Given the description of an element on the screen output the (x, y) to click on. 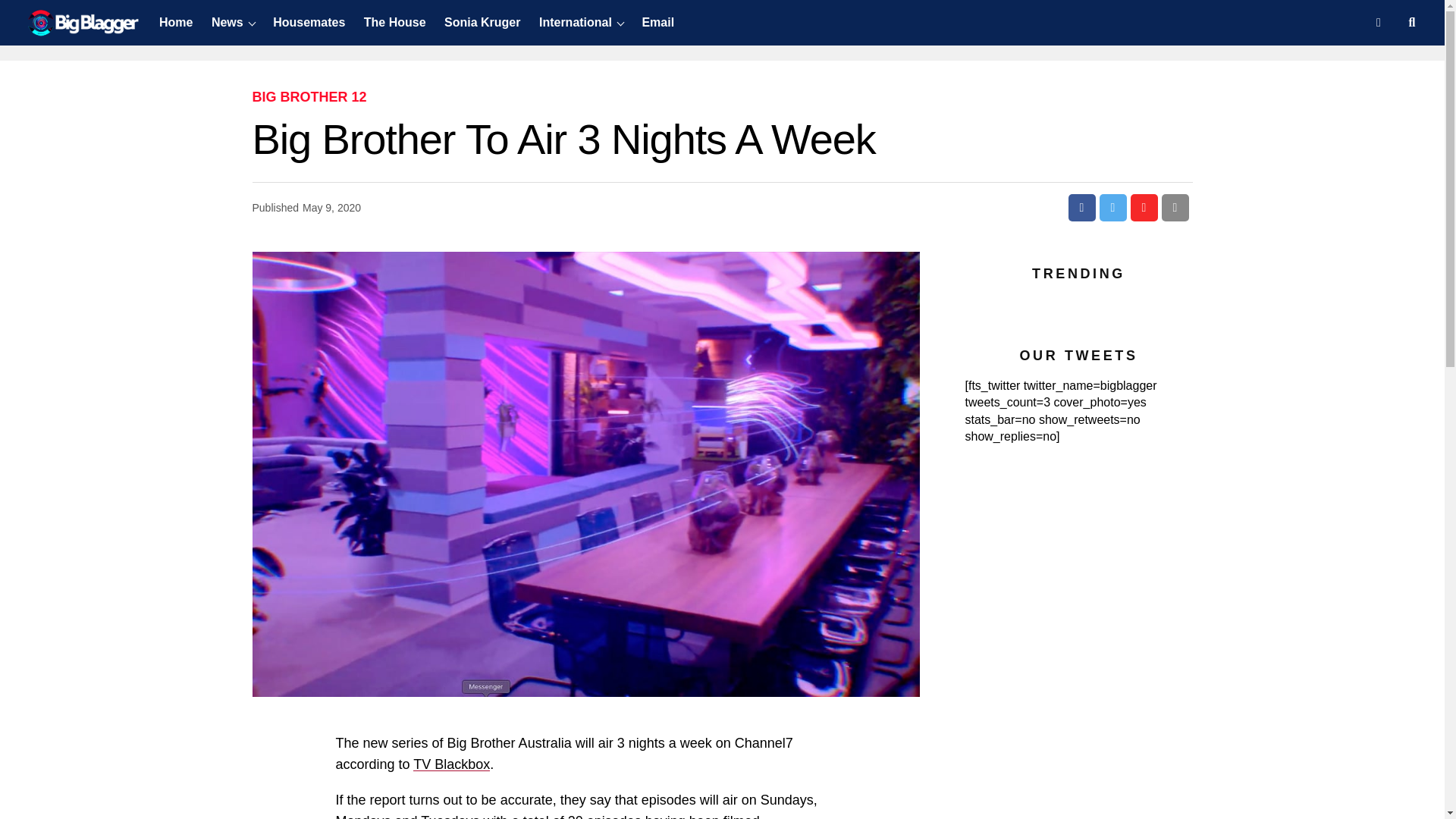
Sonia Kruger (481, 22)
Share on Flipboard (1143, 207)
International (575, 22)
Home (179, 22)
Tweet This Post (1112, 207)
The House (394, 22)
Housemates (308, 22)
News (226, 22)
Share on Facebook (1080, 207)
Email (657, 22)
